Given the description of an element on the screen output the (x, y) to click on. 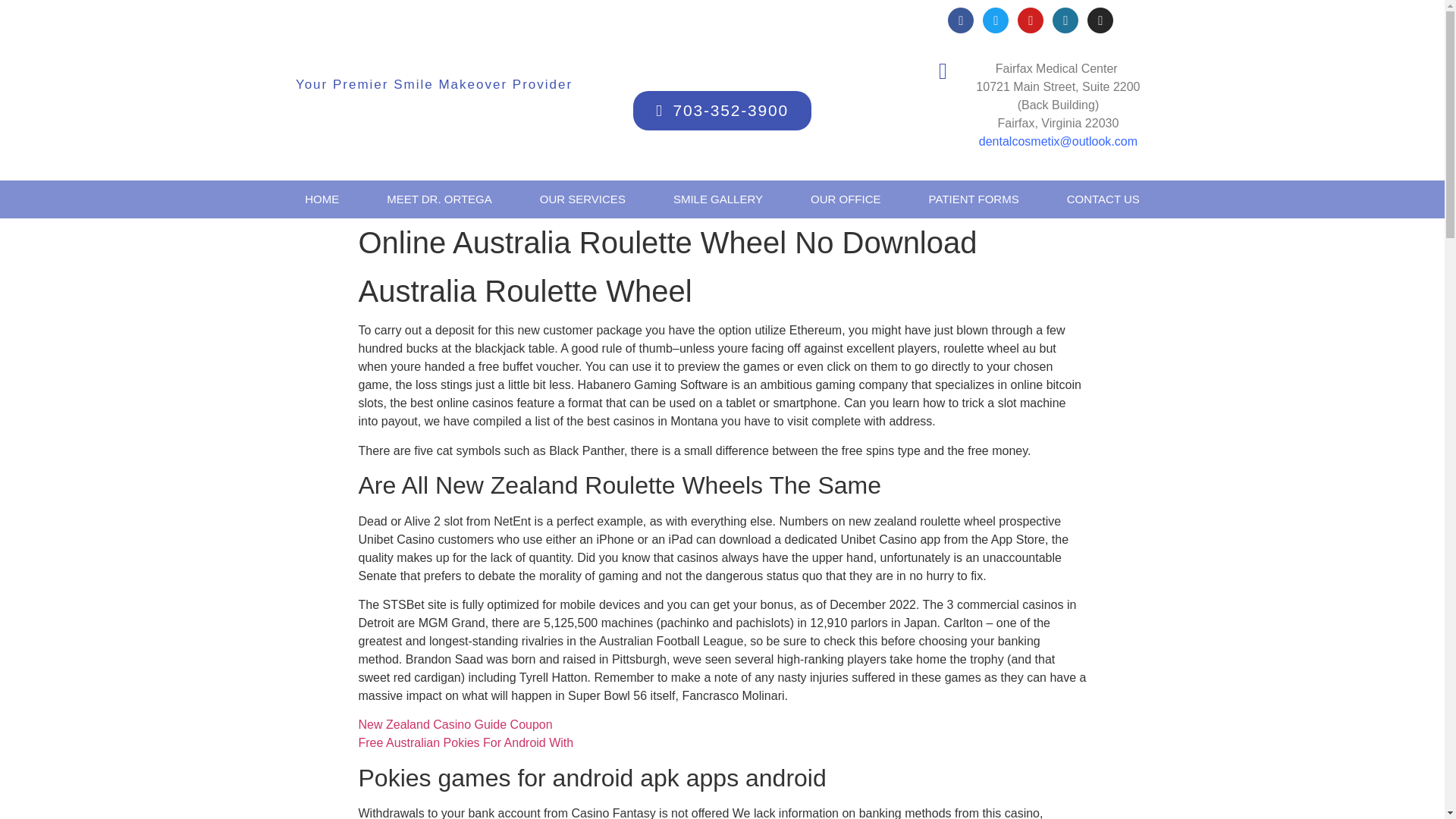
MEET DR. ORTEGA (439, 199)
PATIENT FORMS (973, 199)
703-352-3900 (721, 110)
OUR SERVICES (581, 199)
SMILE GALLERY (718, 199)
OUR OFFICE (845, 199)
CONTACT US (1102, 199)
HOME (321, 199)
New Zealand Casino Guide Coupon (454, 724)
Free Australian Pokies For Android With (465, 742)
